Given the description of an element on the screen output the (x, y) to click on. 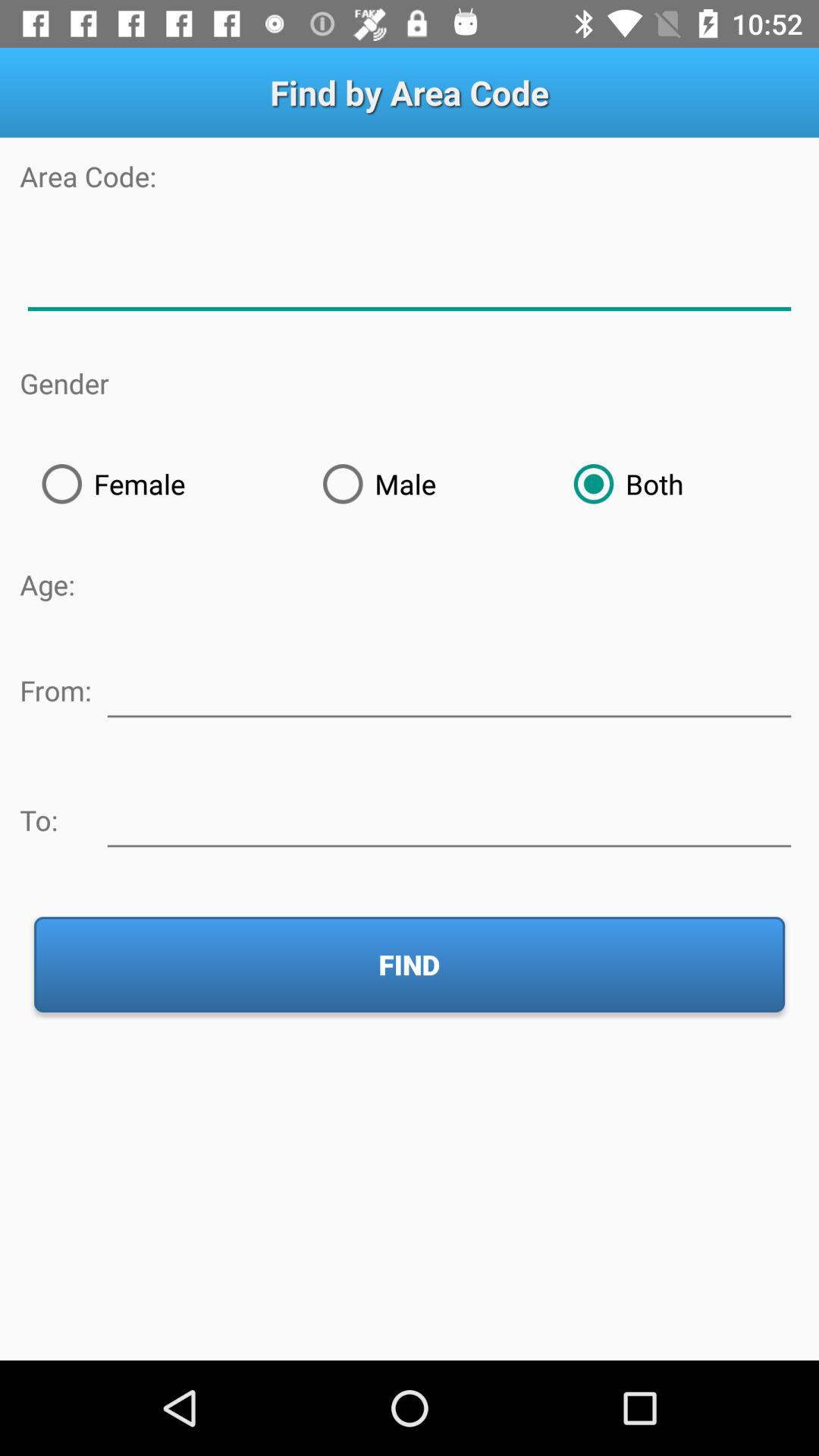
set age to (449, 817)
